Given the description of an element on the screen output the (x, y) to click on. 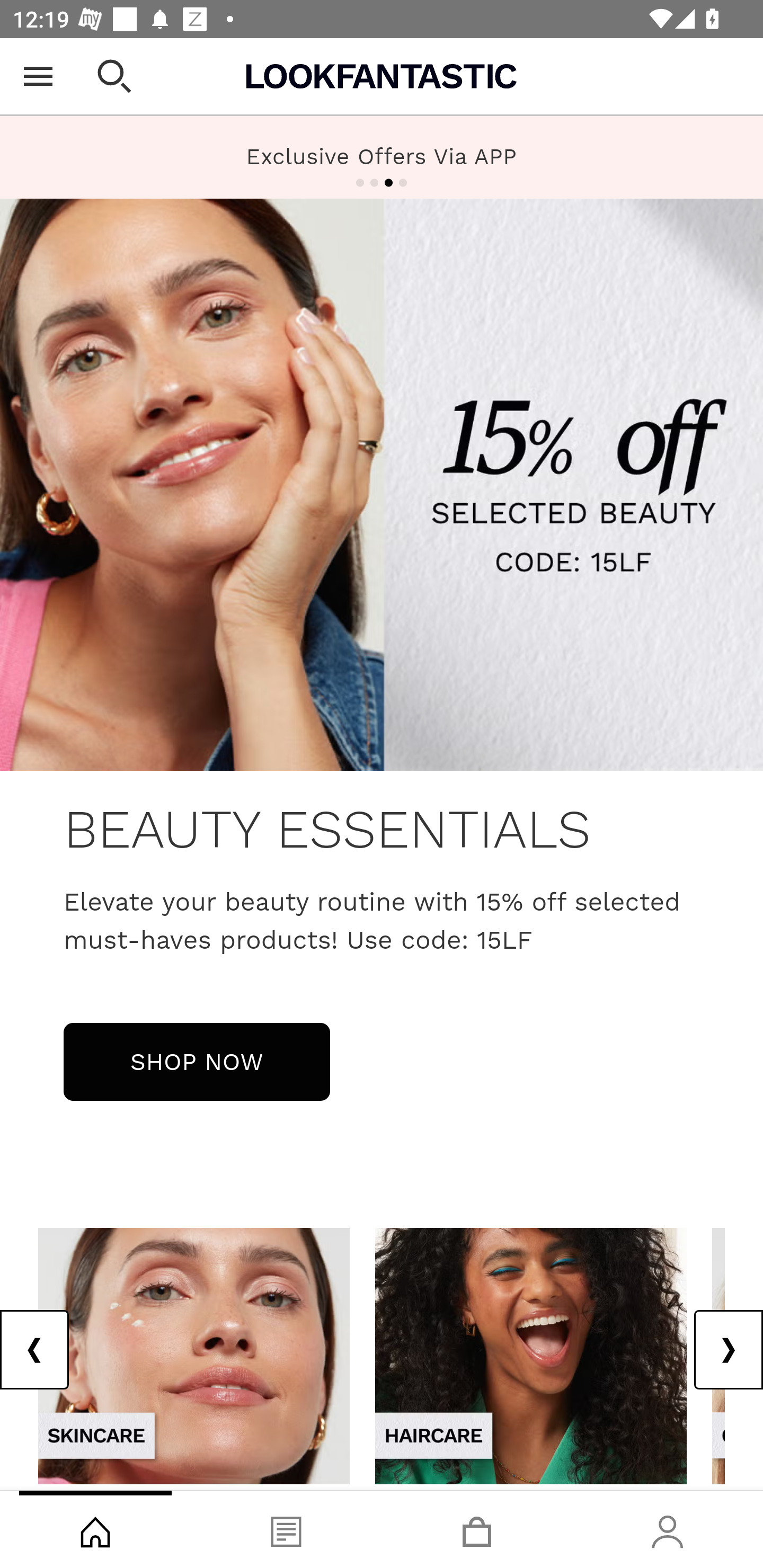
Open Menu (38, 75)
Open search (114, 75)
Lookfantastic USA (381, 75)
SHOP NOW (196, 1061)
view-all (193, 1355)
view-all (530, 1355)
Previous (35, 1349)
Next (727, 1349)
Shop, tab, 1 of 4 (95, 1529)
Blog, tab, 2 of 4 (285, 1529)
Basket, tab, 3 of 4 (476, 1529)
Account, tab, 4 of 4 (667, 1529)
